Given the description of an element on the screen output the (x, y) to click on. 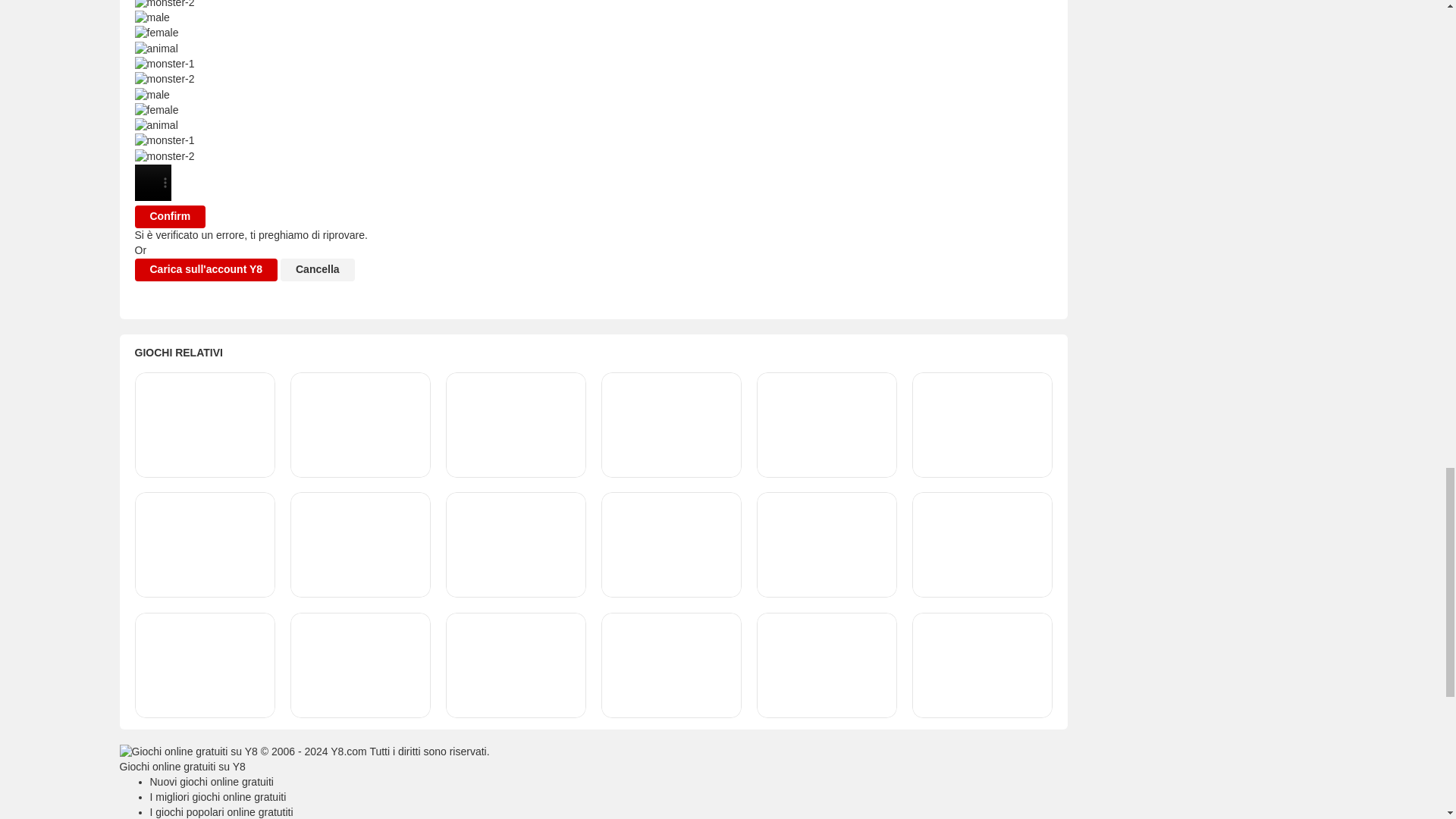
Sii il primo a giocare ai nuovi giochi online gratuiti! (211, 781)
